Given the description of an element on the screen output the (x, y) to click on. 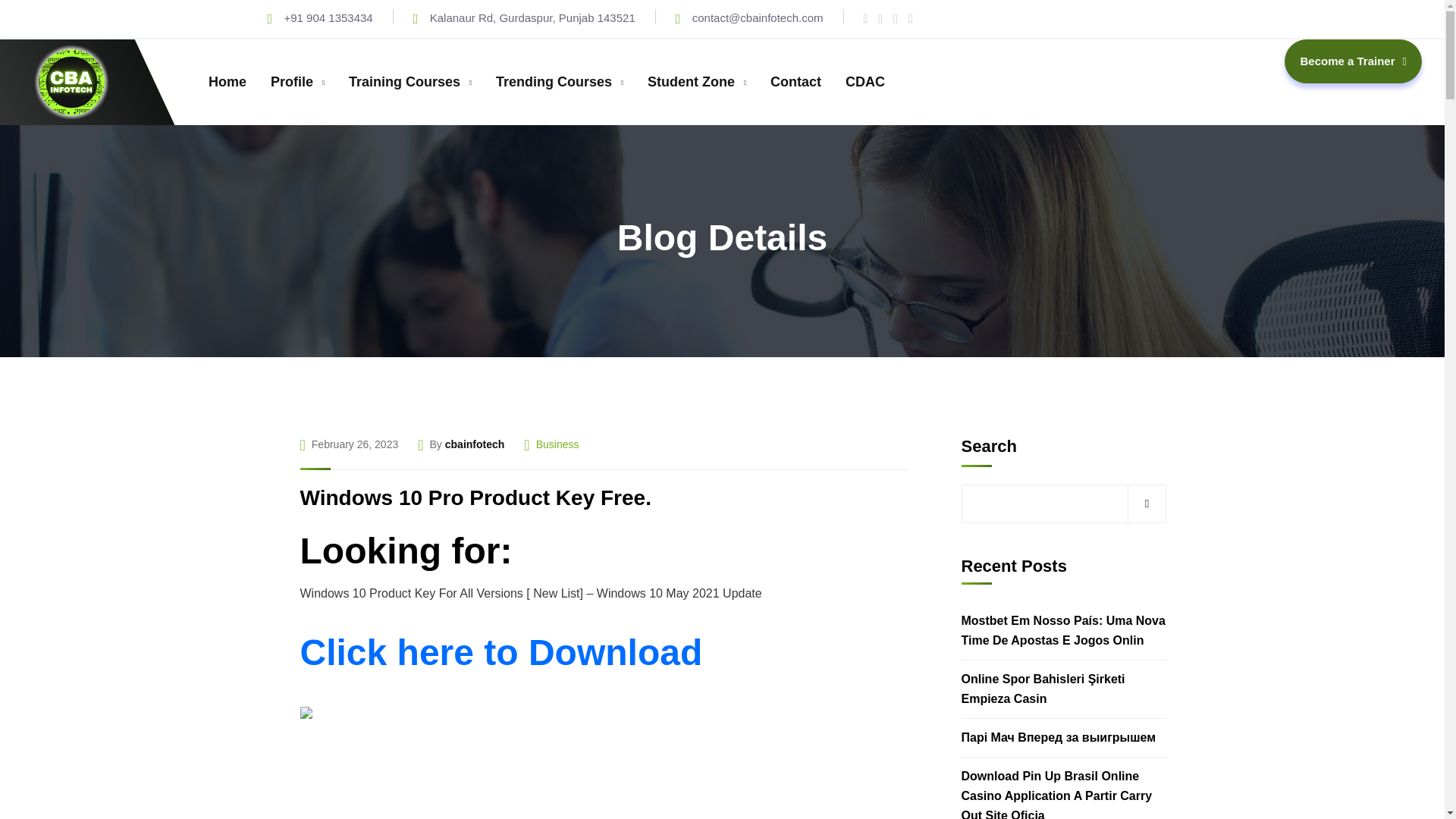
Posts by cbainfotech (475, 444)
Training Courses (410, 82)
Windows 10 Pro Product Key Free. (474, 498)
